Given the description of an element on the screen output the (x, y) to click on. 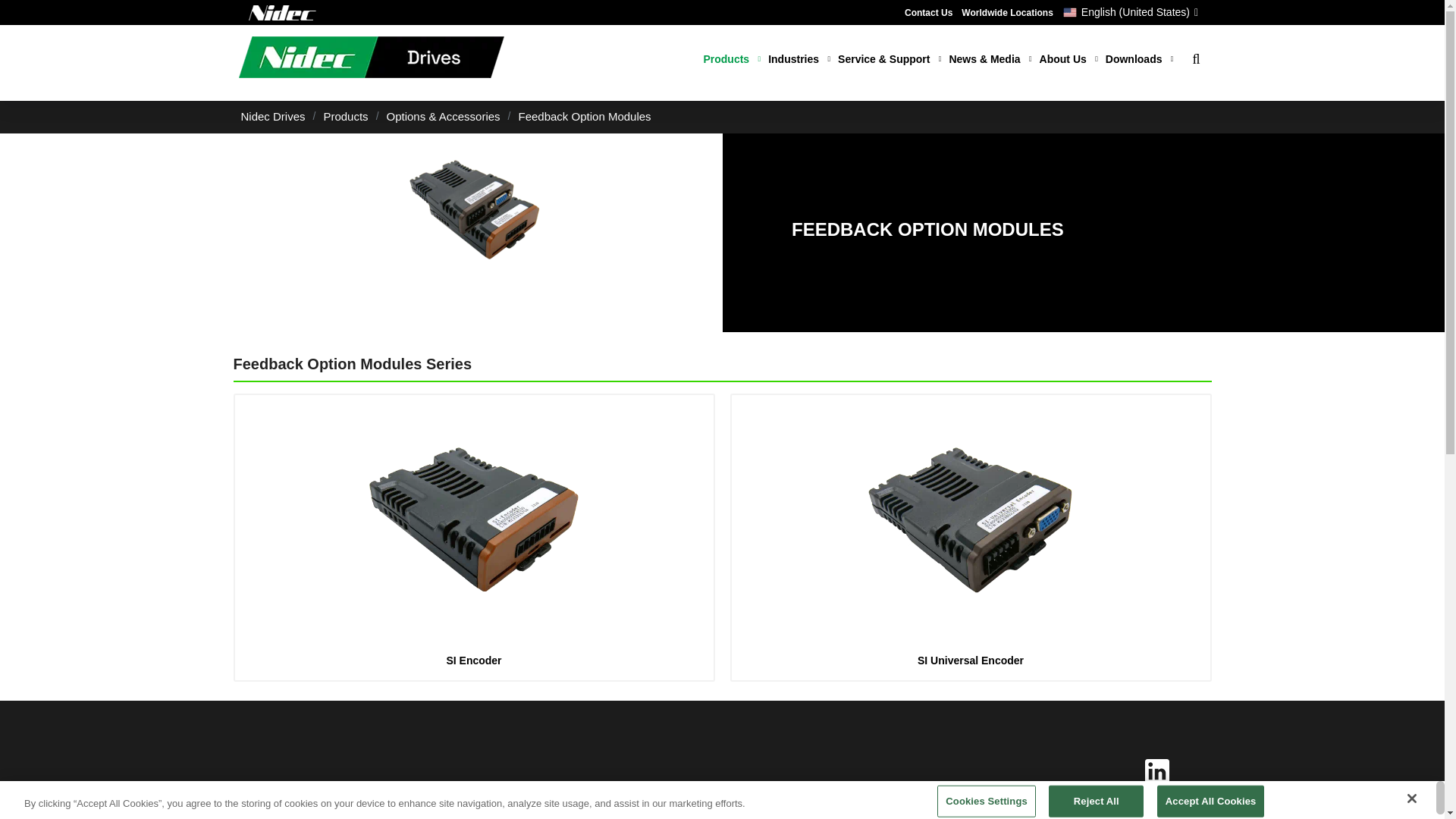
Logo (282, 11)
Worldwide Locations (1006, 12)
Products (731, 59)
Contact Us (928, 12)
Products (731, 59)
BrandLogo (370, 59)
